Given the description of an element on the screen output the (x, y) to click on. 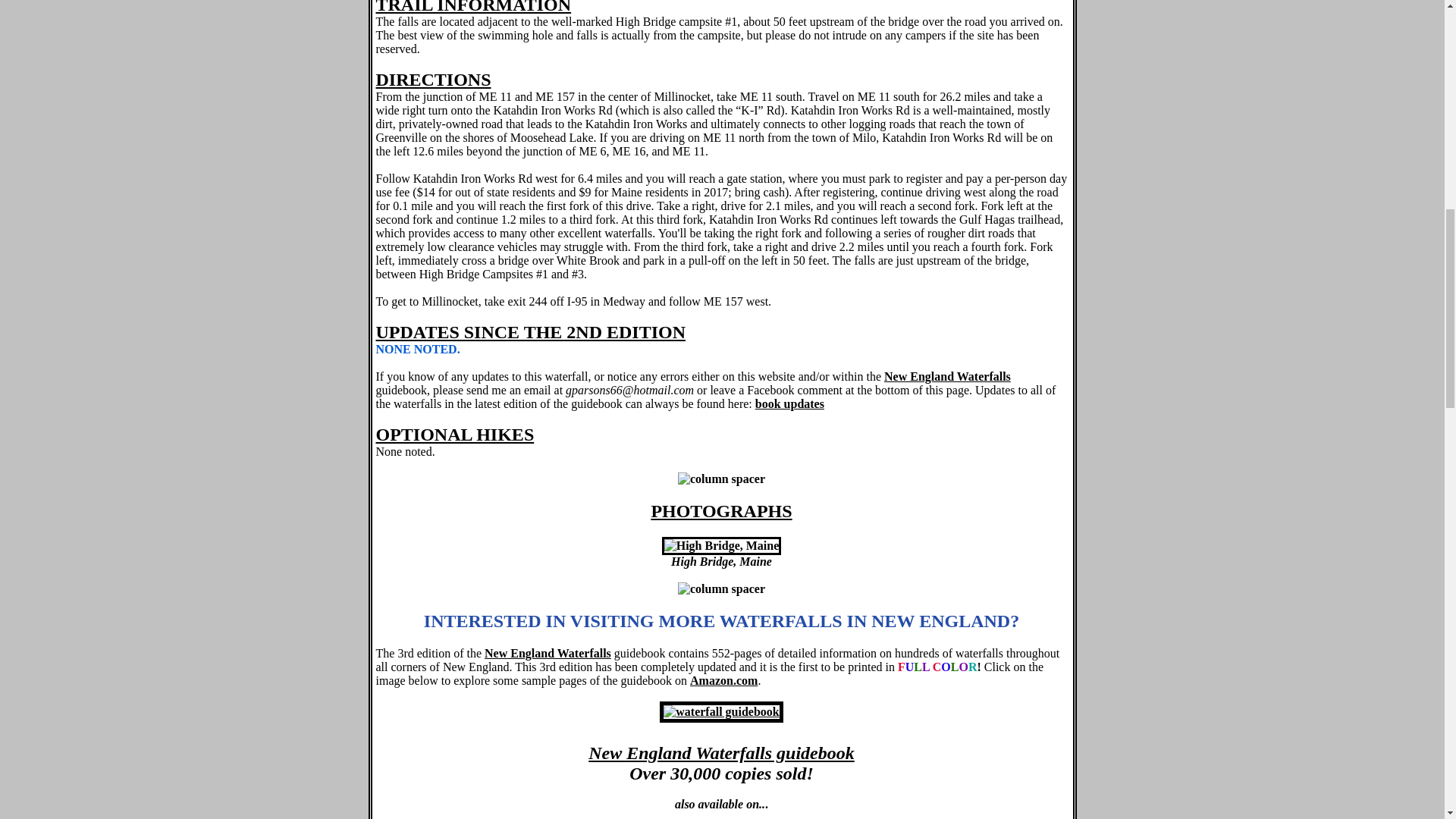
New England Waterfalls guidebook (720, 762)
High Bridge, Maine (721, 546)
book updates (789, 403)
New England Waterfalls (946, 376)
Amazon.com (723, 680)
New England Waterfalls: 3rd Edition (721, 711)
New England Waterfalls (547, 653)
